Given the description of an element on the screen output the (x, y) to click on. 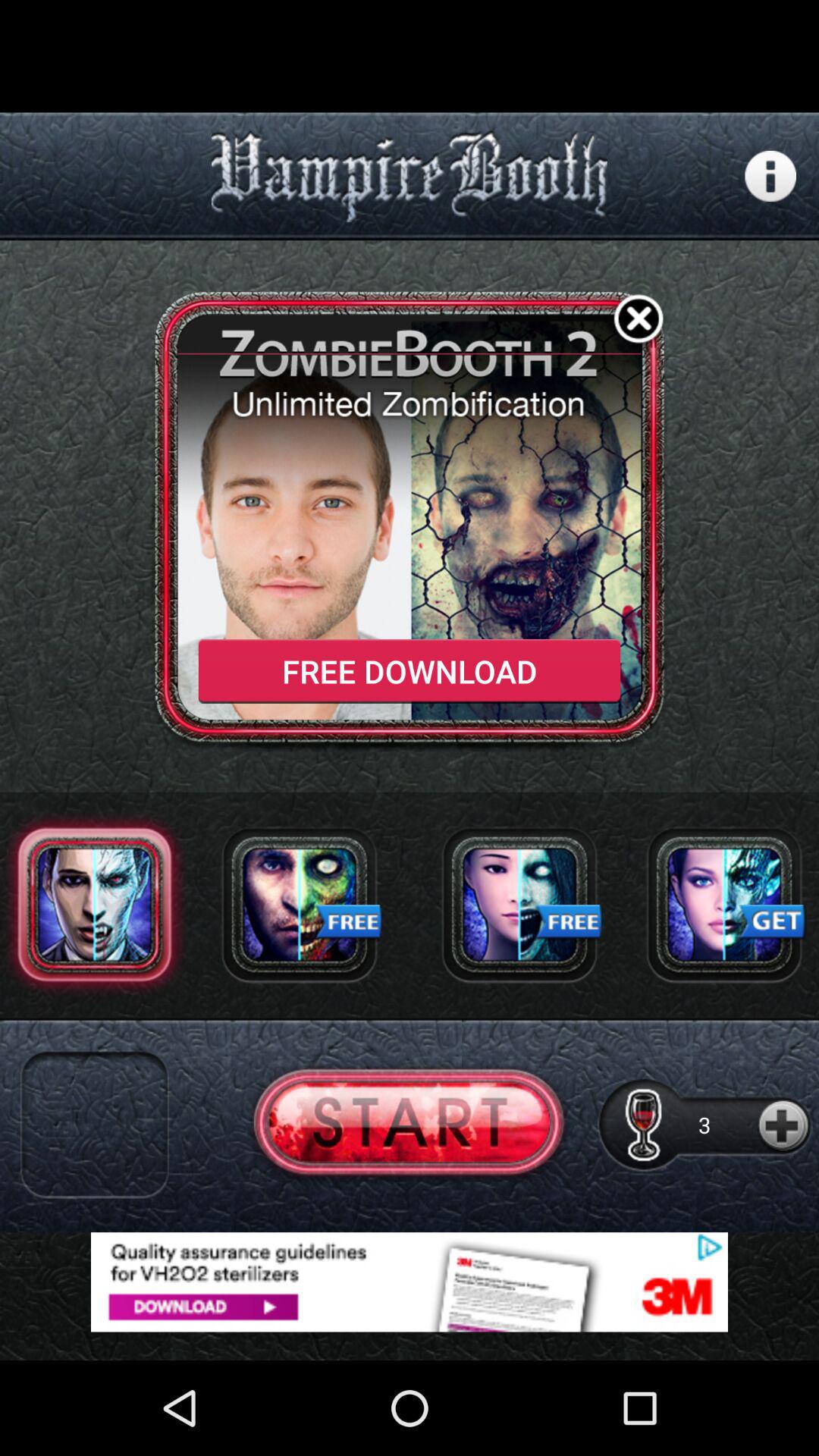
empty box (94, 1124)
